Given the description of an element on the screen output the (x, y) to click on. 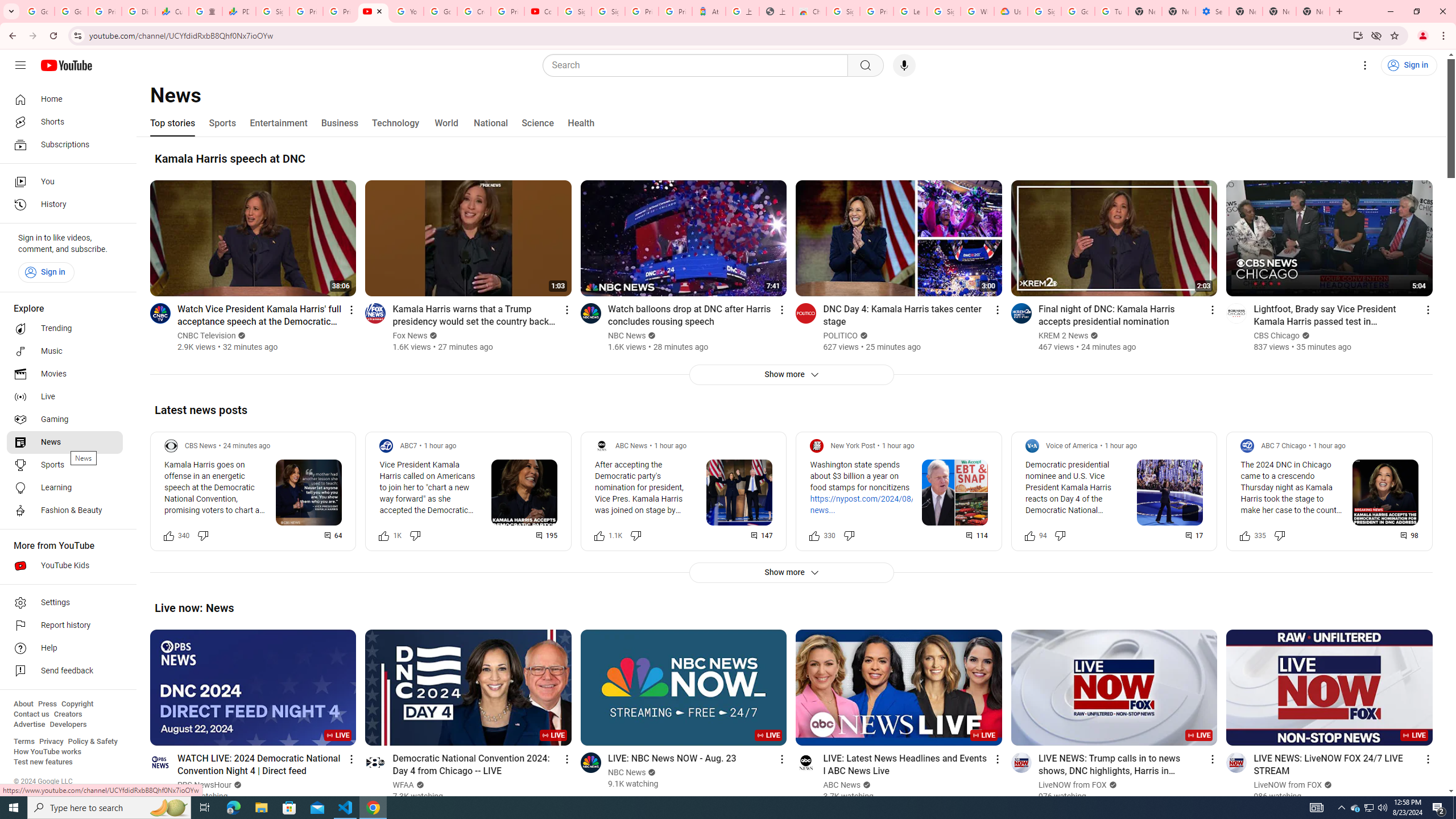
Technology (395, 122)
Chrome Web Store (809, 11)
KREM 2 News (1063, 335)
CBS News (200, 445)
Turn cookies on or off - Computer - Google Account Help (1111, 11)
About (23, 703)
Show more (790, 572)
Policy & Safety (91, 741)
